Given the description of an element on the screen output the (x, y) to click on. 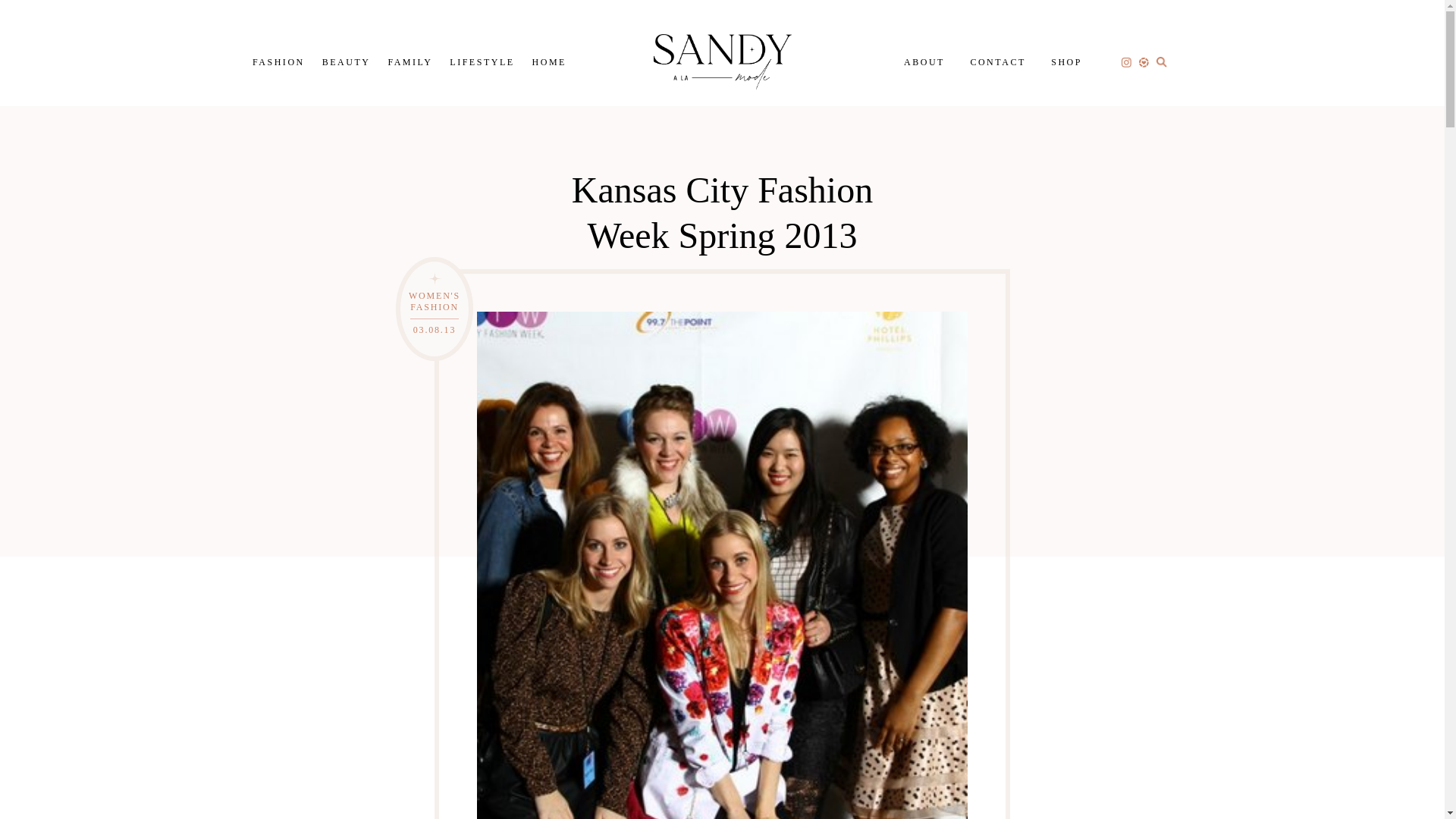
FAMILY (409, 61)
ABOUT (924, 61)
BEAUTY (346, 61)
HOME (549, 61)
LIFESTYLE (481, 61)
SHOP (1066, 61)
CONTACT (997, 61)
FASHION (277, 61)
